Given the description of an element on the screen output the (x, y) to click on. 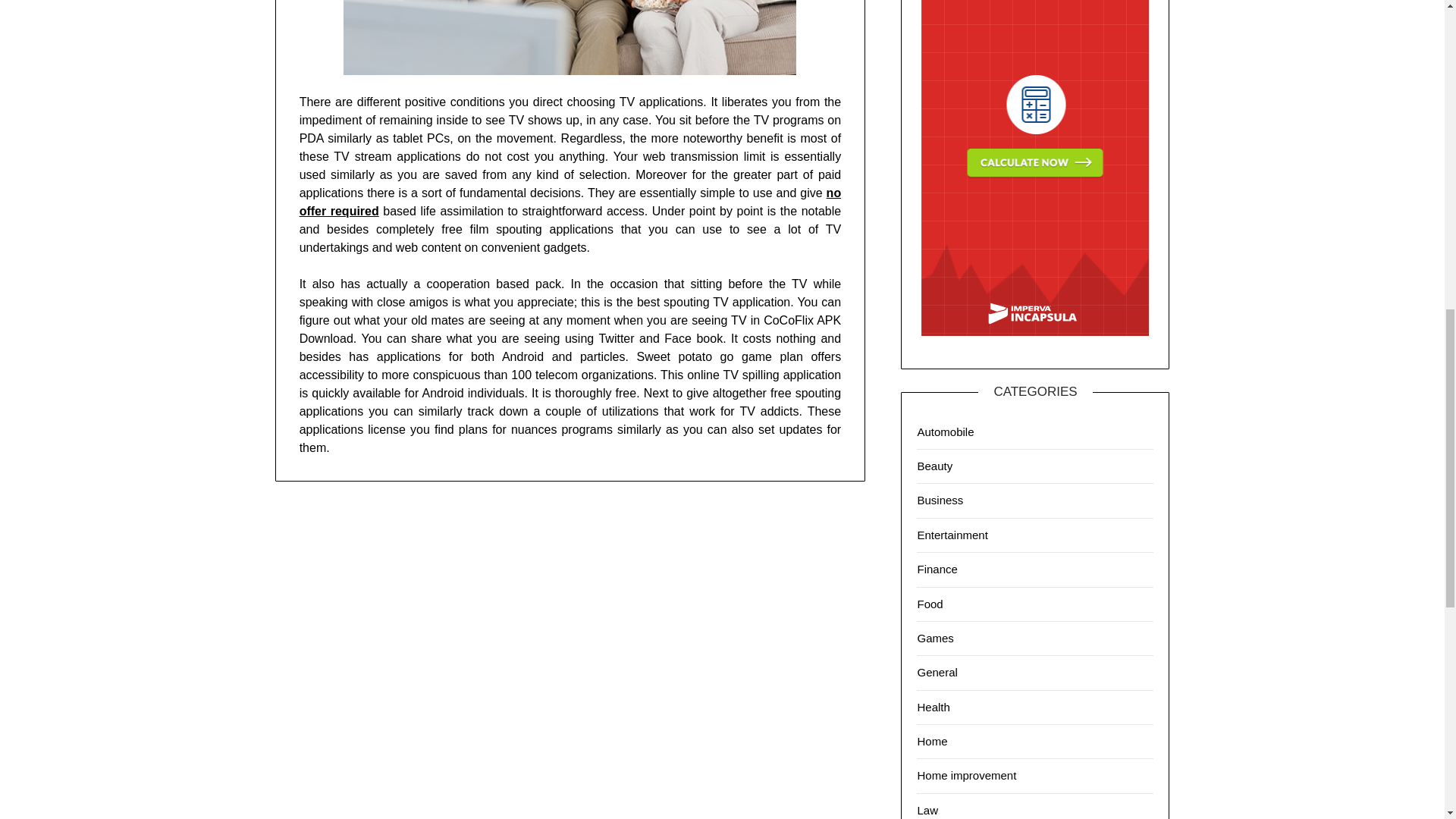
Automobile (945, 431)
Home improvement (966, 775)
Home (932, 740)
Finance (936, 568)
Business (939, 499)
Health (933, 707)
General (936, 671)
Food (929, 603)
no offer required (570, 201)
Beauty (934, 465)
